Given the description of an element on the screen output the (x, y) to click on. 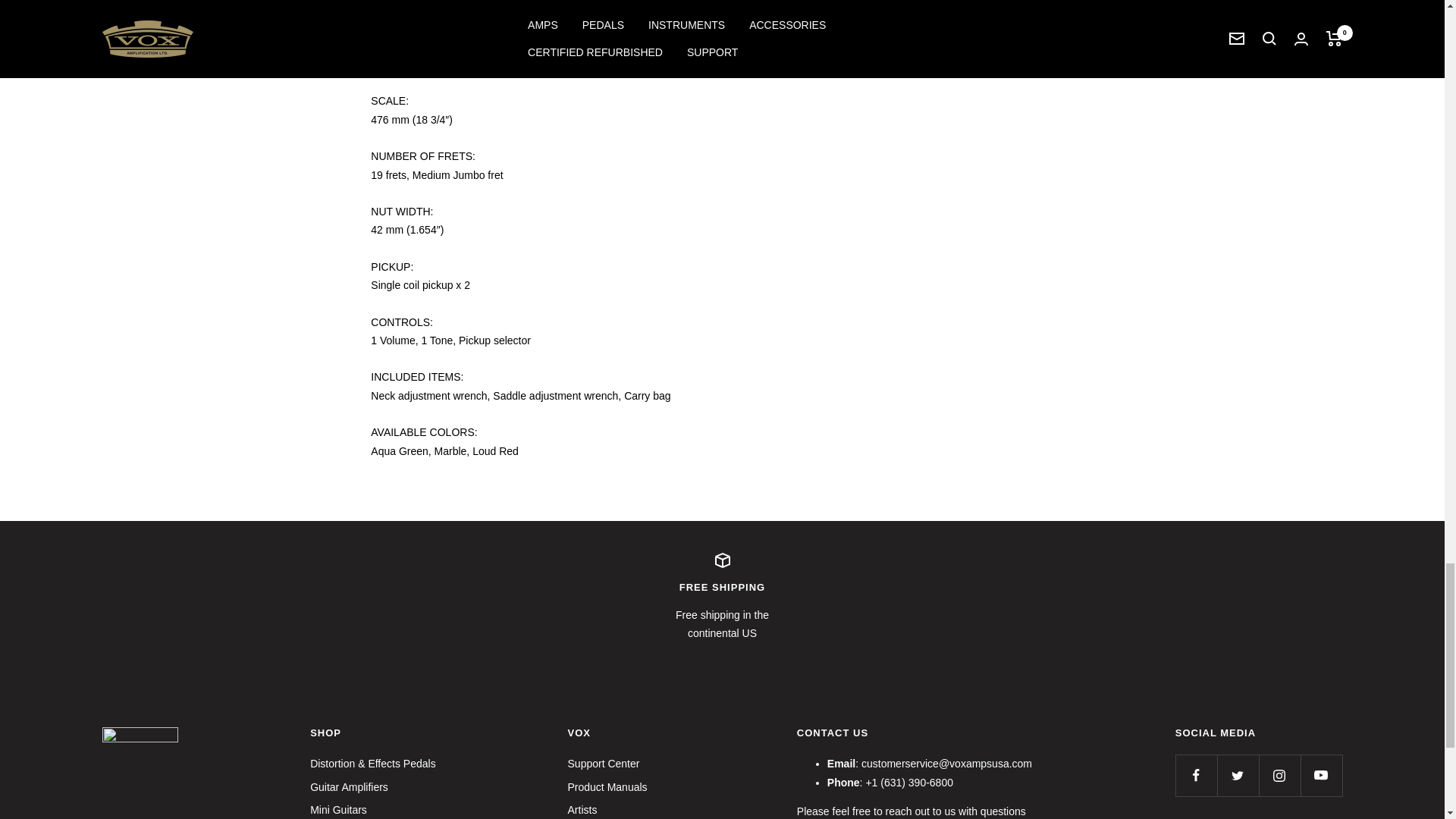
tel:631-390-6800 (908, 782)
